Given the description of an element on the screen output the (x, y) to click on. 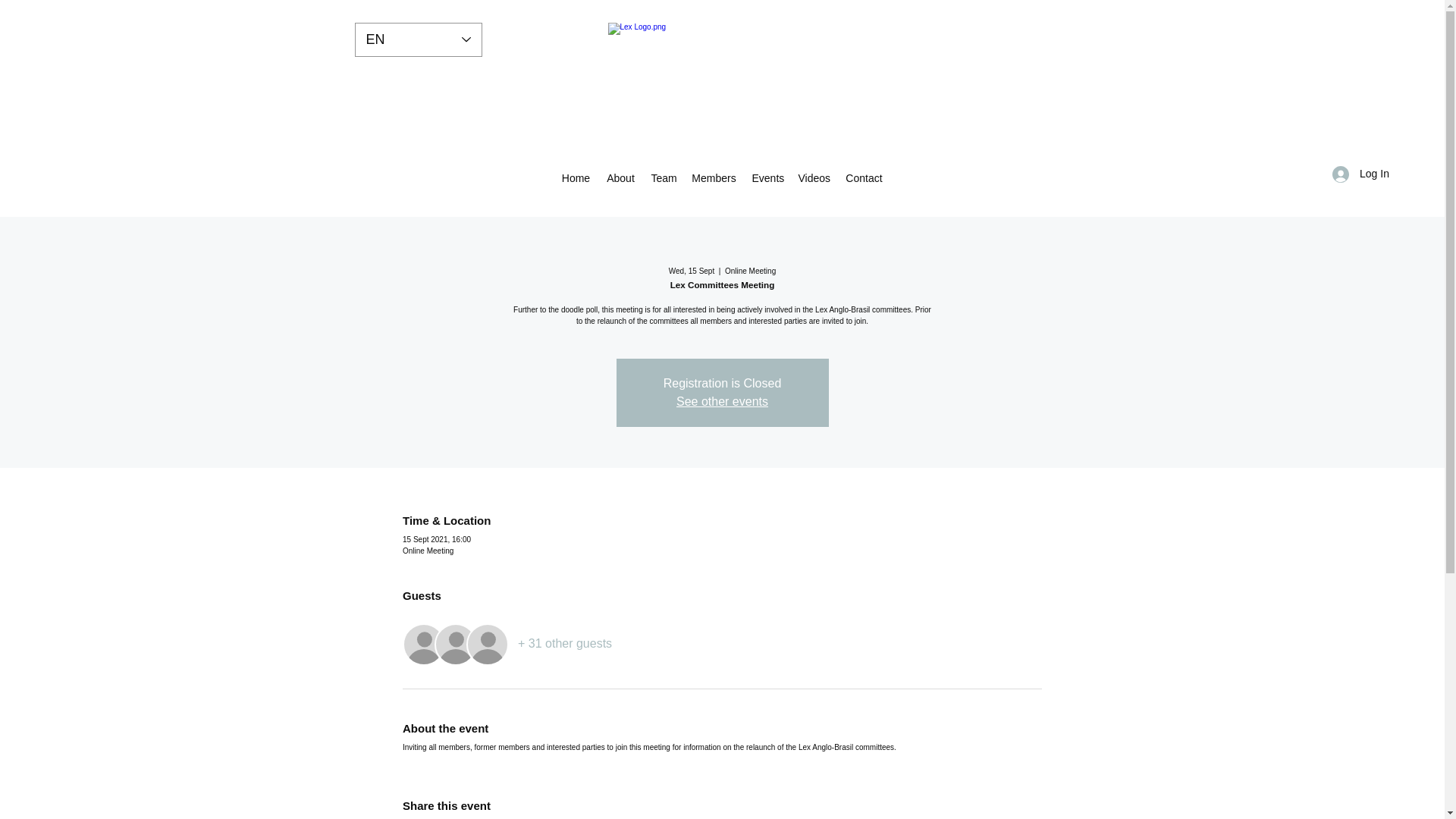
About (619, 178)
Home (574, 178)
Videos (813, 178)
See other events (722, 400)
Contact (863, 178)
Events (767, 178)
Team (662, 178)
Members (713, 178)
Log In (1360, 173)
